Given the description of an element on the screen output the (x, y) to click on. 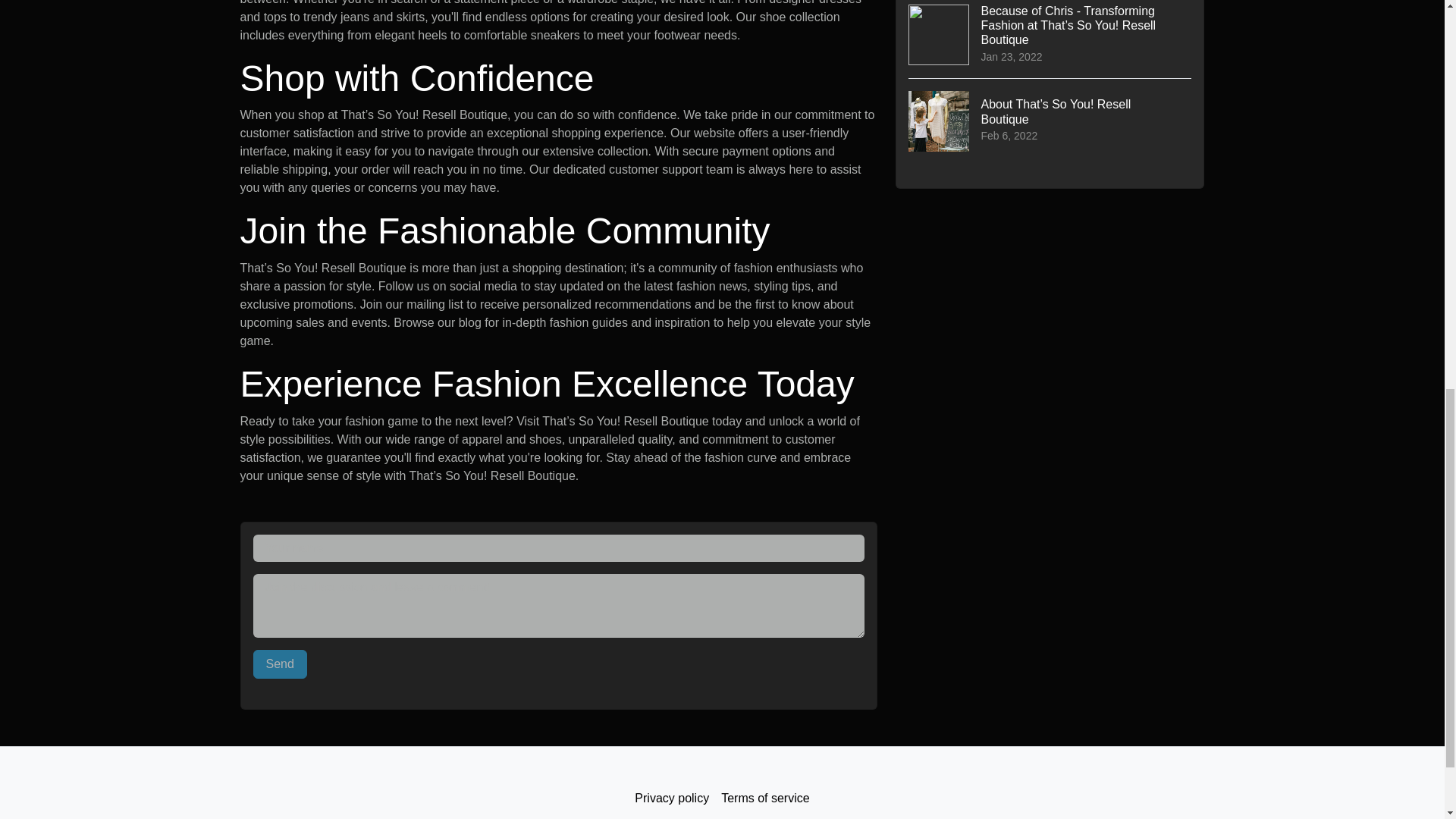
Send (280, 664)
Terms of service (764, 798)
Privacy policy (671, 798)
Send (280, 664)
